Given the description of an element on the screen output the (x, y) to click on. 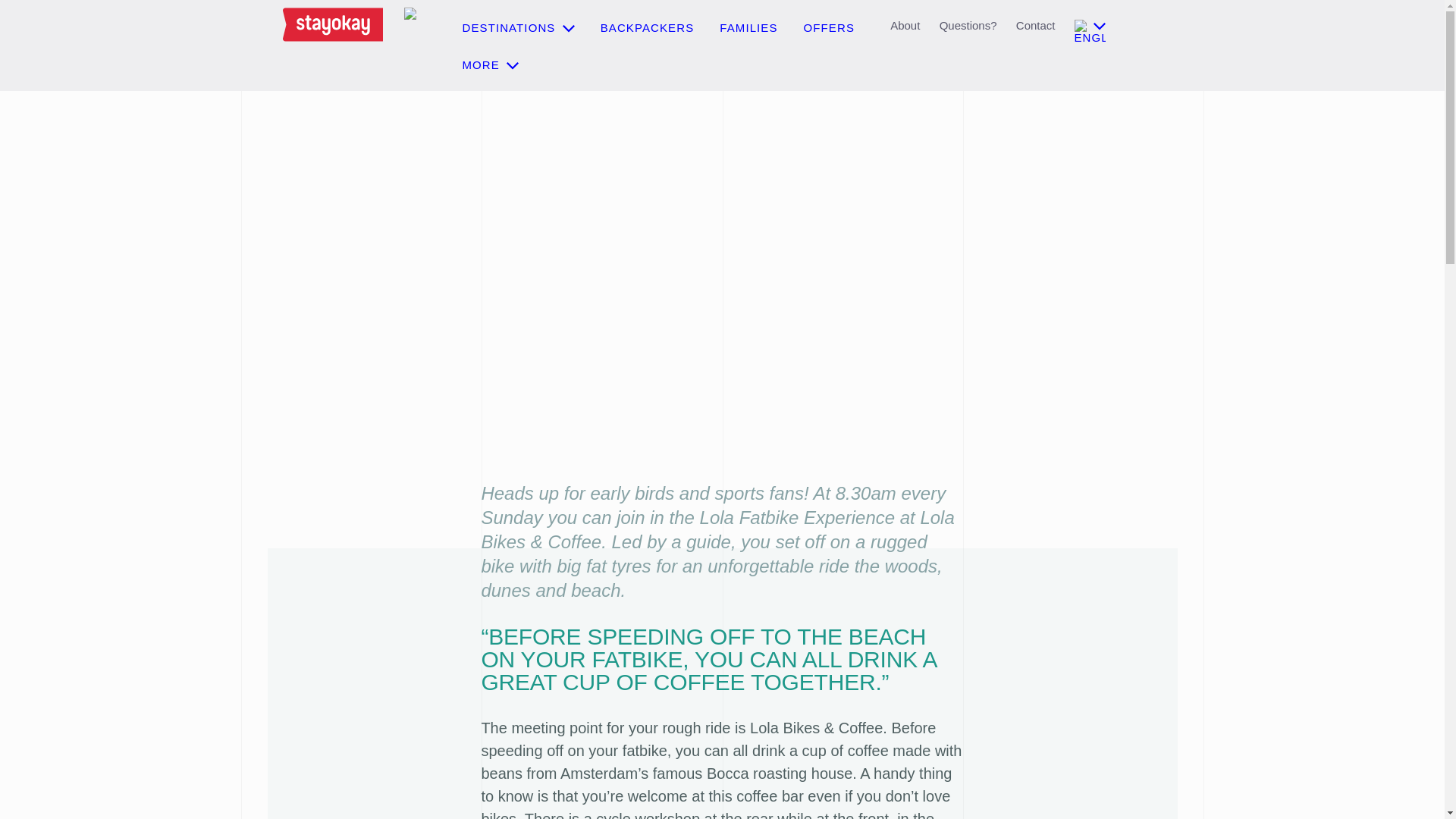
FAMILIES (748, 27)
BACKPACKERS (647, 27)
OFFERS (828, 27)
DESTINATIONS (519, 27)
MORE (491, 64)
